Given the description of an element on the screen output the (x, y) to click on. 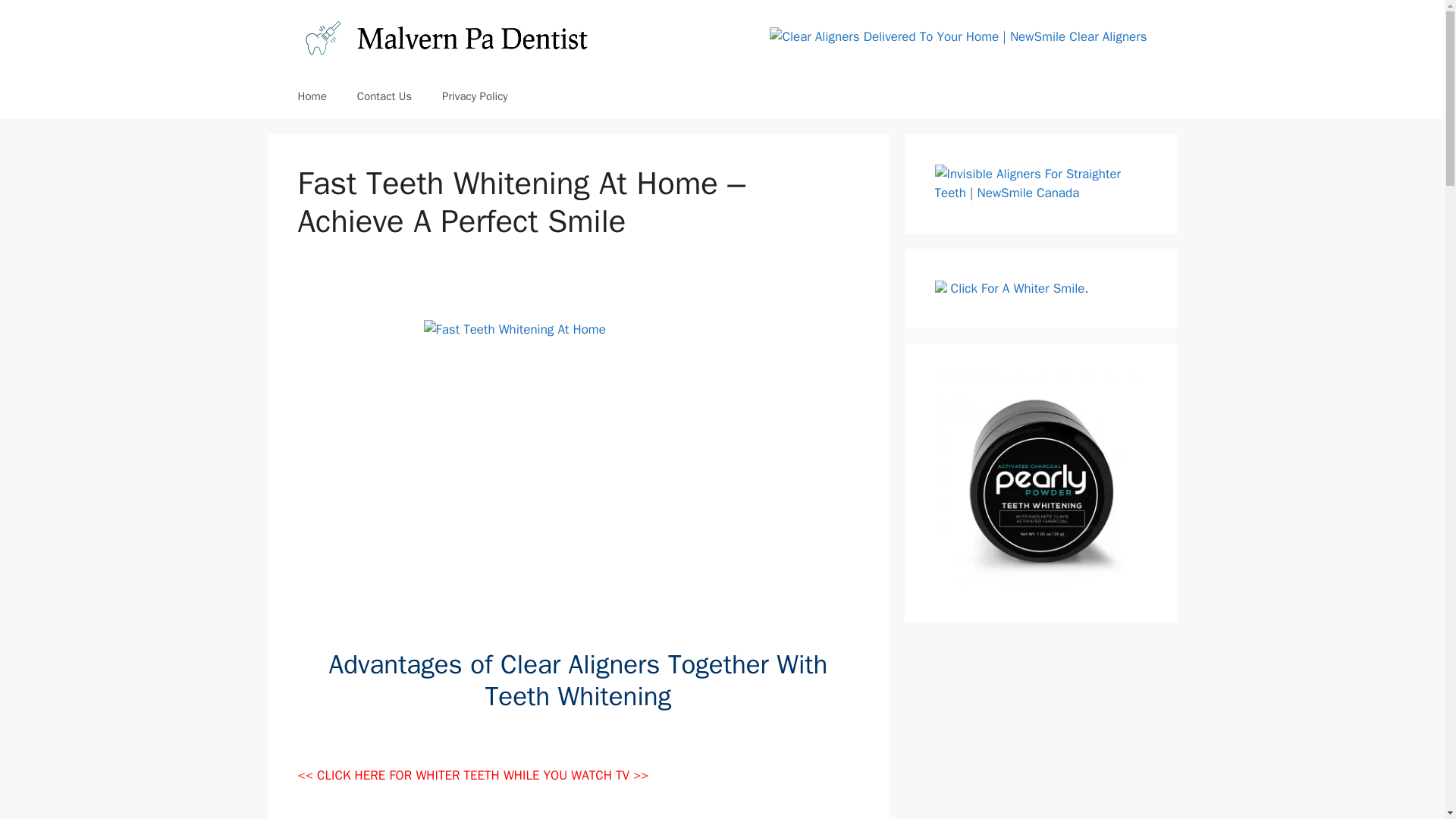
MalvernPaDentist (444, 35)
Contact Us (384, 95)
Home (311, 95)
MalvernPaDentist (444, 36)
Privacy Policy (474, 95)
Click For A Whiter Smile. (1019, 288)
